Given the description of an element on the screen output the (x, y) to click on. 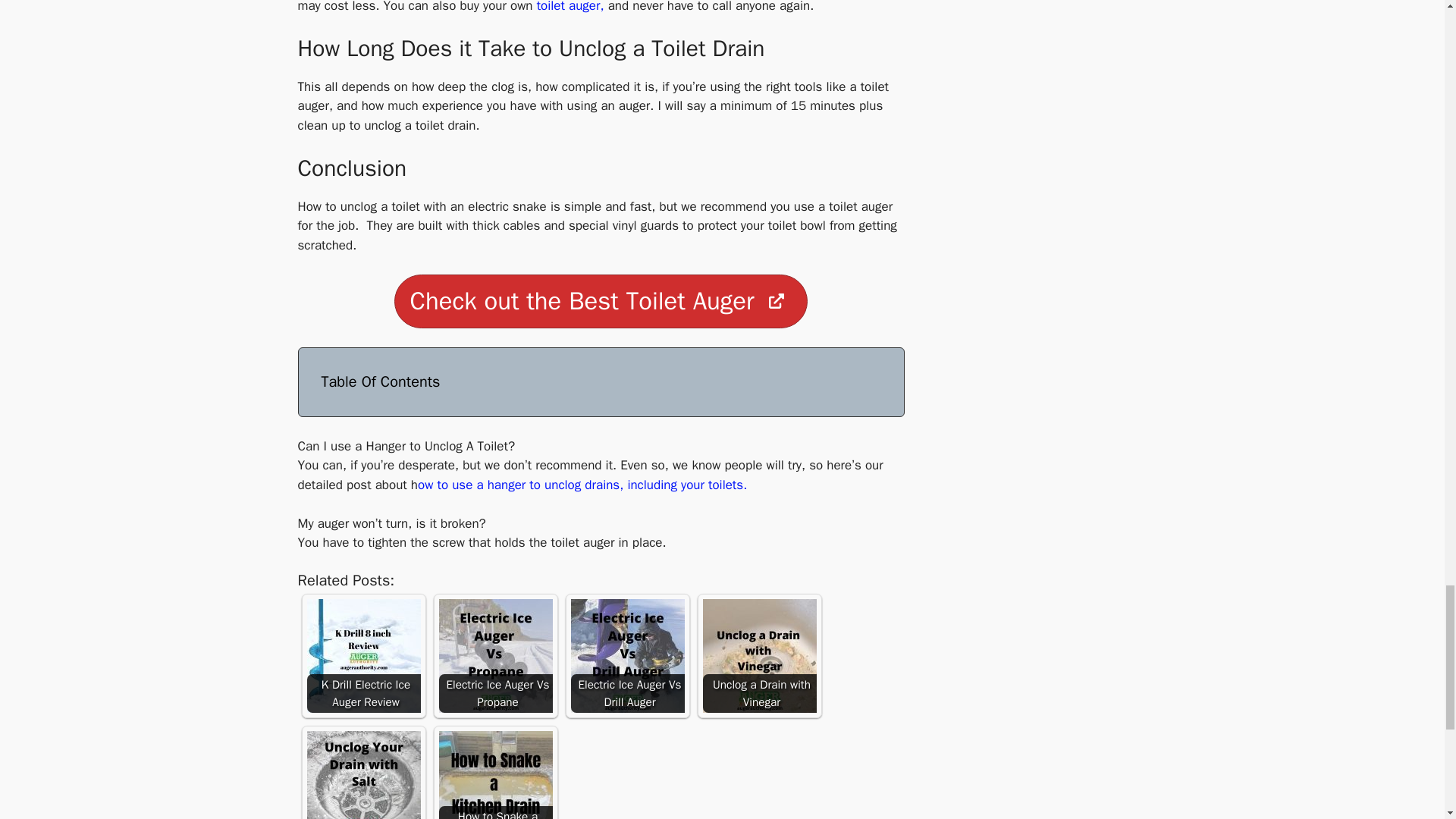
Unclog a Drain with Vinegar (758, 655)
Unclog Drain with Salt (362, 775)
K Drill Electric Ice Auger Review (362, 655)
Electric Ice Auger Vs Propane (494, 655)
Check out the Best Toilet Auger (601, 301)
Unclog a Drain with Vinegar (758, 655)
How to Snake a Kitchen Drain (494, 775)
How to Snake a Kitchen Drain (494, 775)
Electric Ice Auger Vs Drill Auger (627, 655)
Unclog Drain with Salt (362, 775)
Electric Ice Auger Vs Drill Auger (627, 655)
toilet auger, (570, 6)
K Drill Electric Ice Auger Review (362, 655)
Electric Ice Auger Vs Propane (494, 655)
ow to use a hanger to unclog drains, including your toilets. (581, 484)
